Given the description of an element on the screen output the (x, y) to click on. 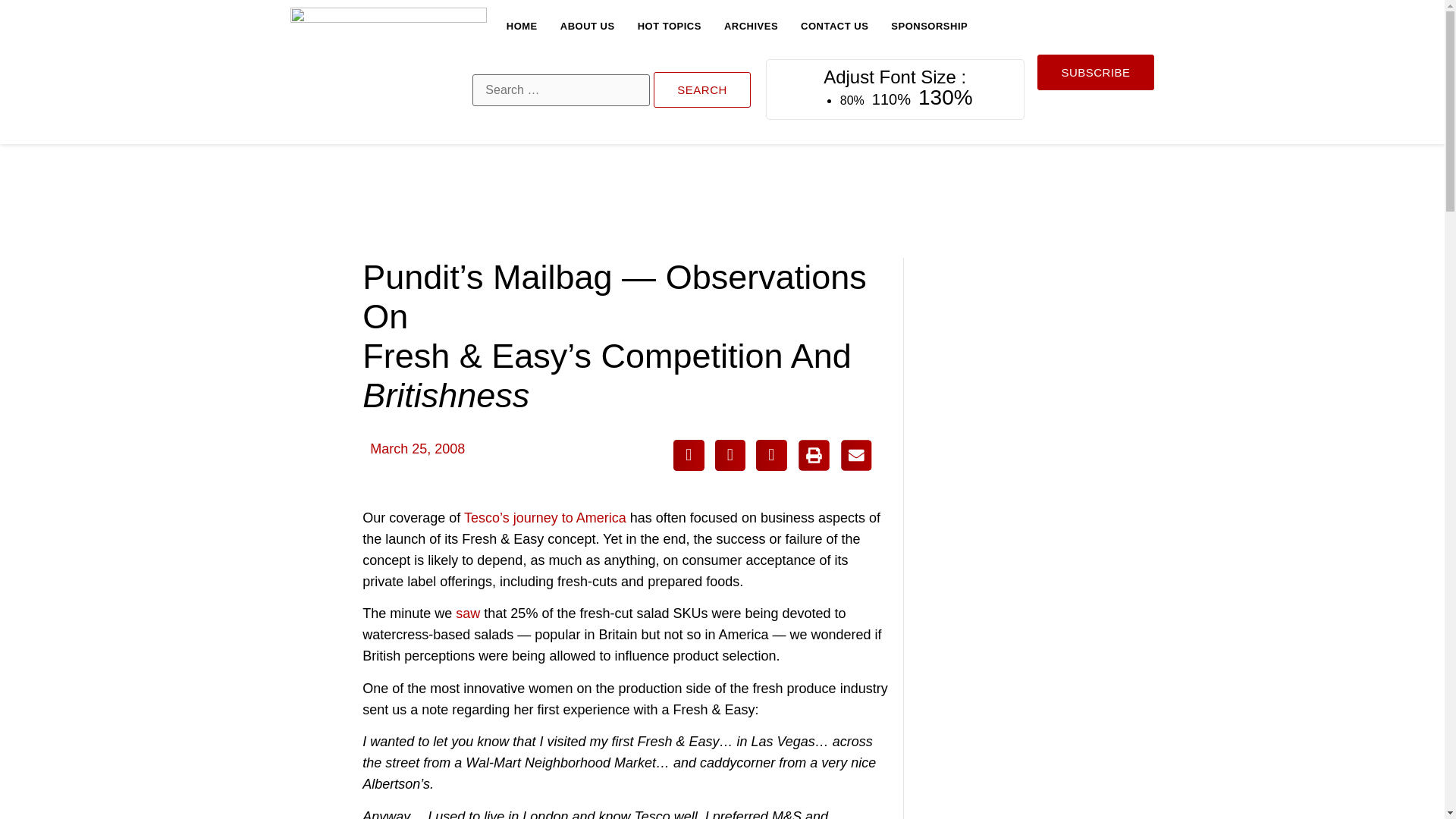
HOT TOPICS (669, 26)
HOME (521, 26)
ARCHIVES (750, 26)
Search (702, 89)
ABOUT US (587, 26)
SPONSORSHIP (929, 26)
CONTACT US (833, 26)
Search (702, 89)
